Given the description of an element on the screen output the (x, y) to click on. 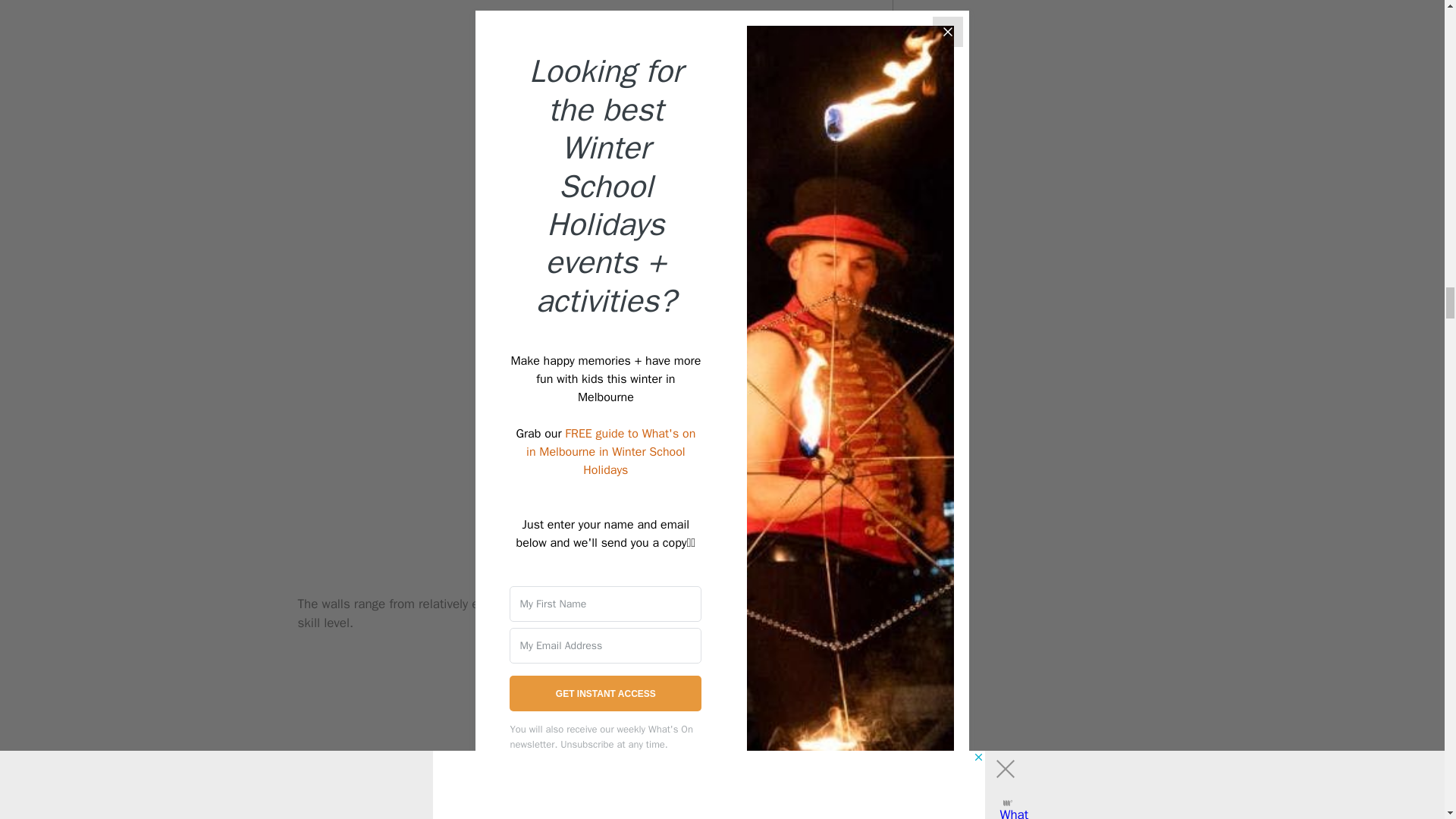
HOT: GoClimb, Coburg 9 (579, 735)
